Given the description of an element on the screen output the (x, y) to click on. 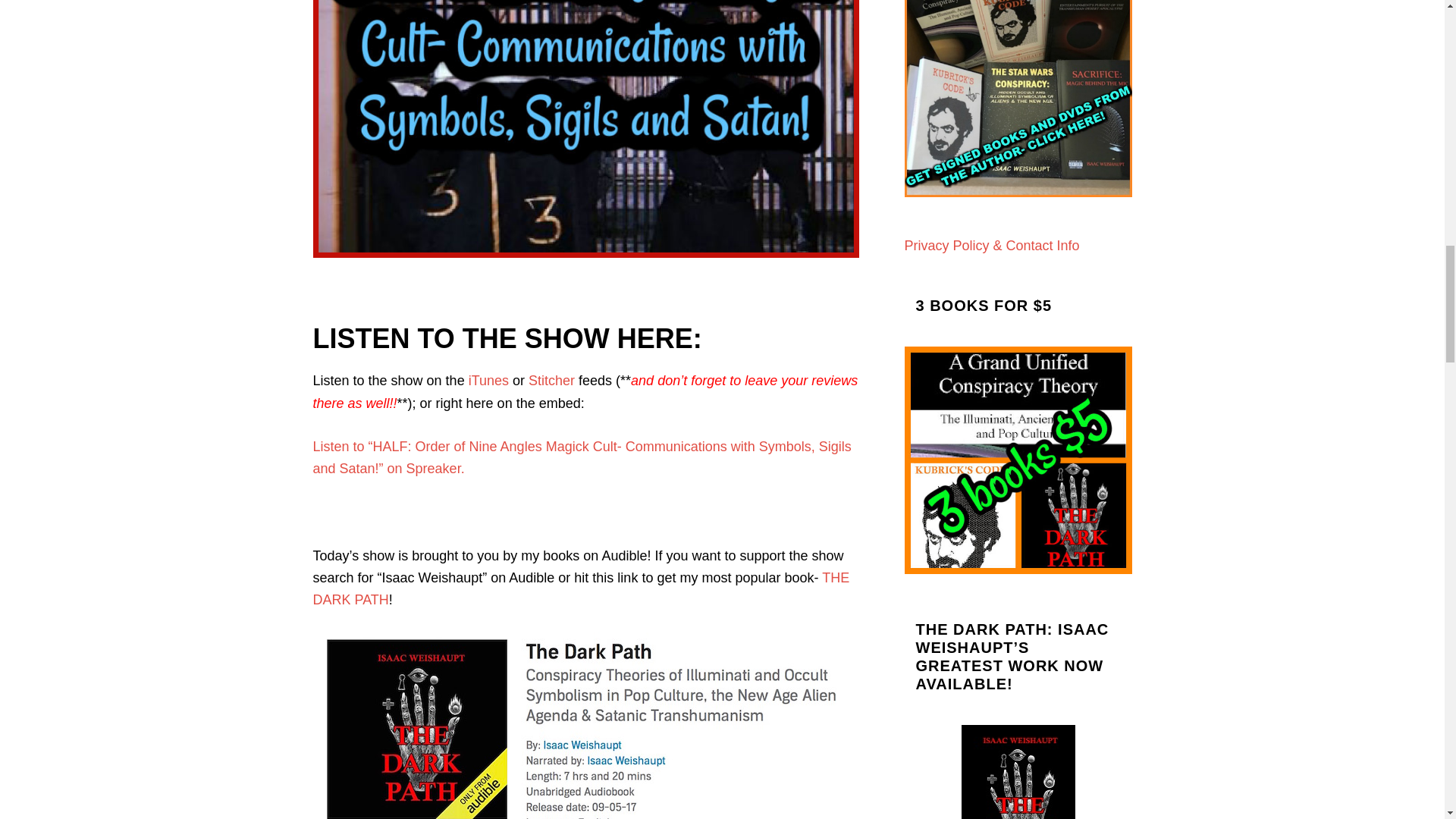
THE DARK PATH (580, 588)
Stitcher (551, 380)
iTunes (488, 380)
